Given the description of an element on the screen output the (x, y) to click on. 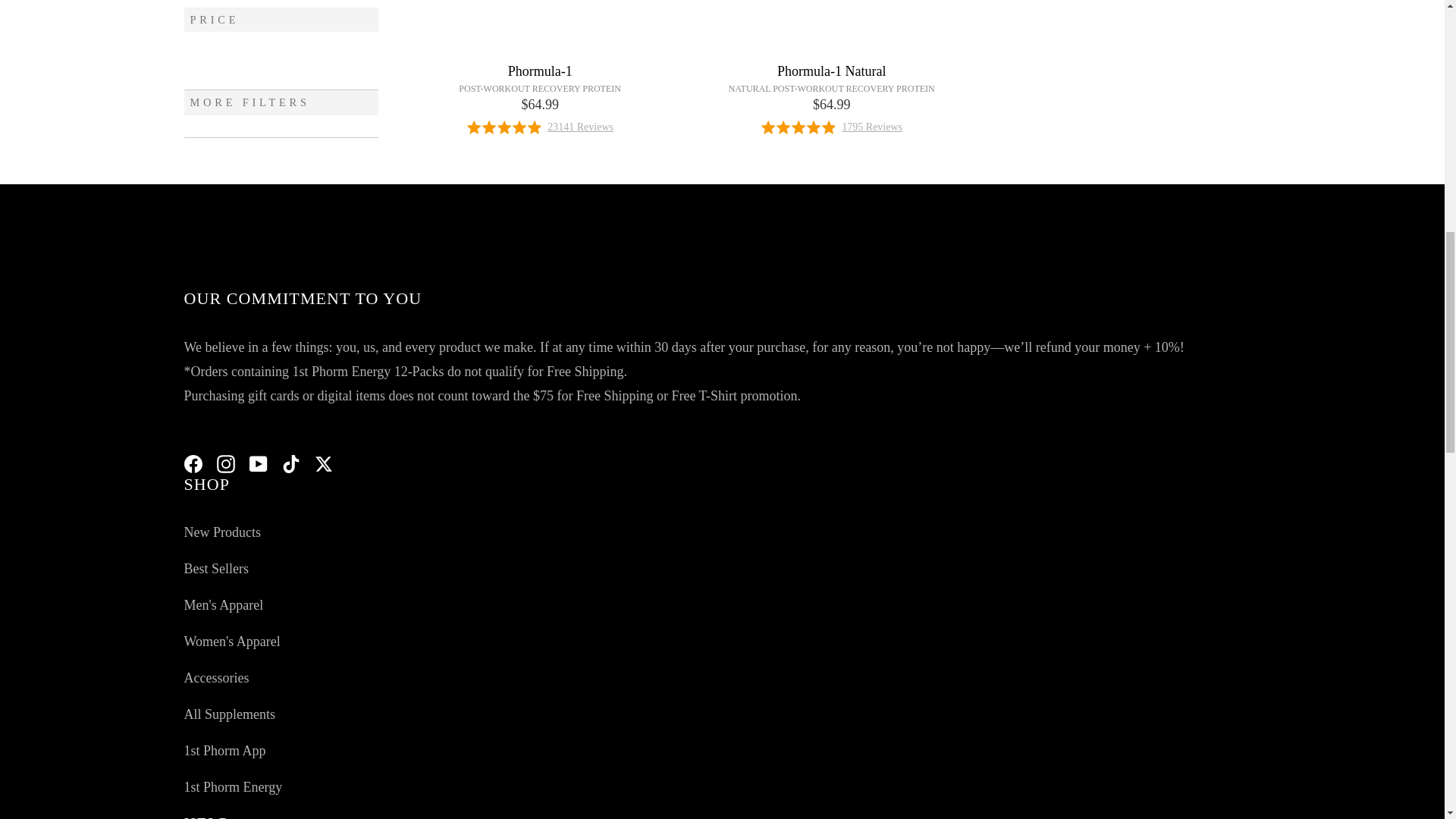
1st Phorm on Facebook (192, 463)
1st Phorm on Instagram (225, 463)
1st Phorm on Twitter (322, 463)
1st Phorm on TikTok (290, 463)
1st Phorm on YouTube (257, 463)
